Given the description of an element on the screen output the (x, y) to click on. 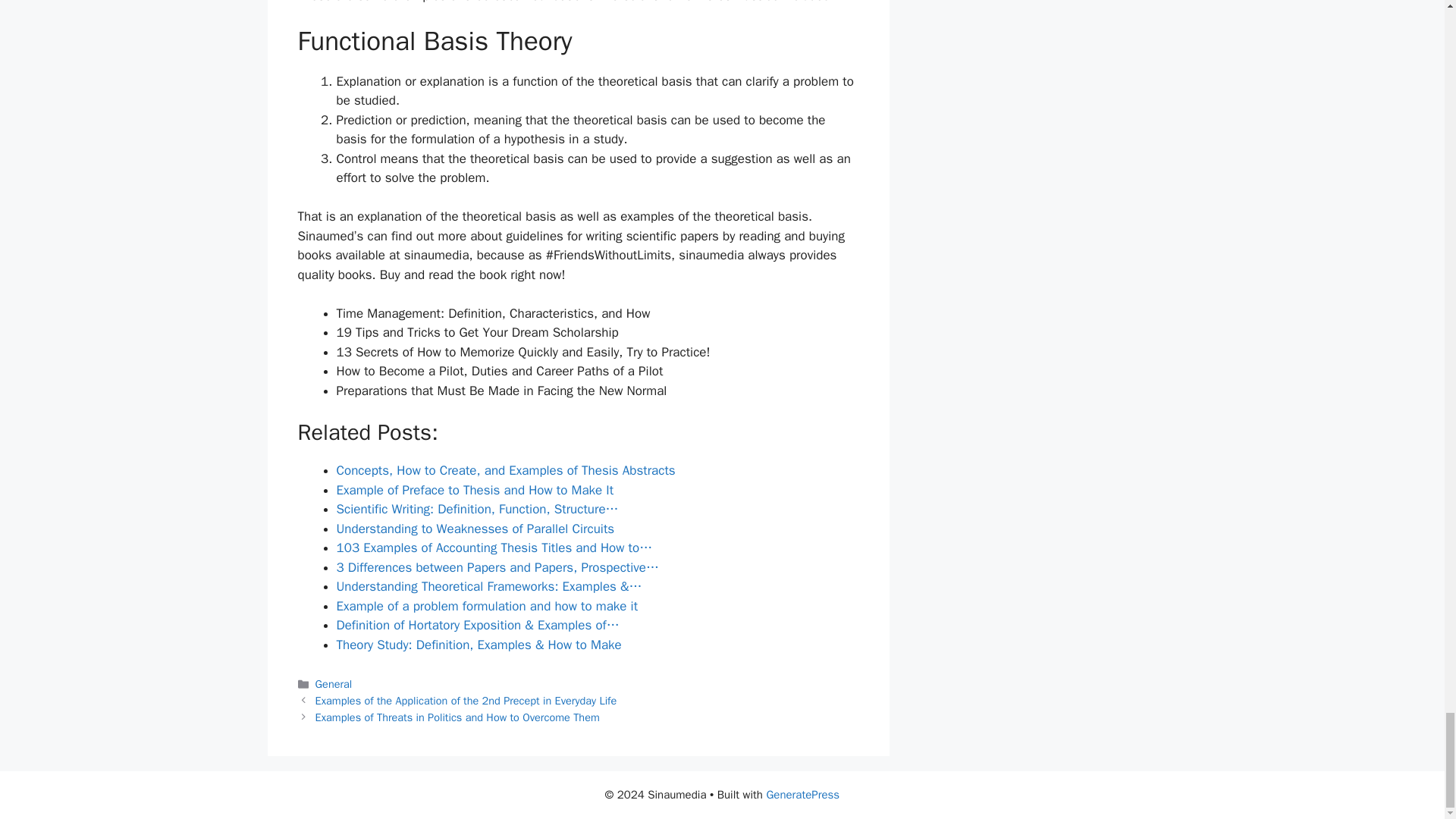
Concepts, How to Create, and Examples of Thesis Abstracts (505, 470)
Example of Preface to Thesis and How to Make It (475, 489)
Understanding to Weaknesses of Parallel Circuits (475, 528)
